Given the description of an element on the screen output the (x, y) to click on. 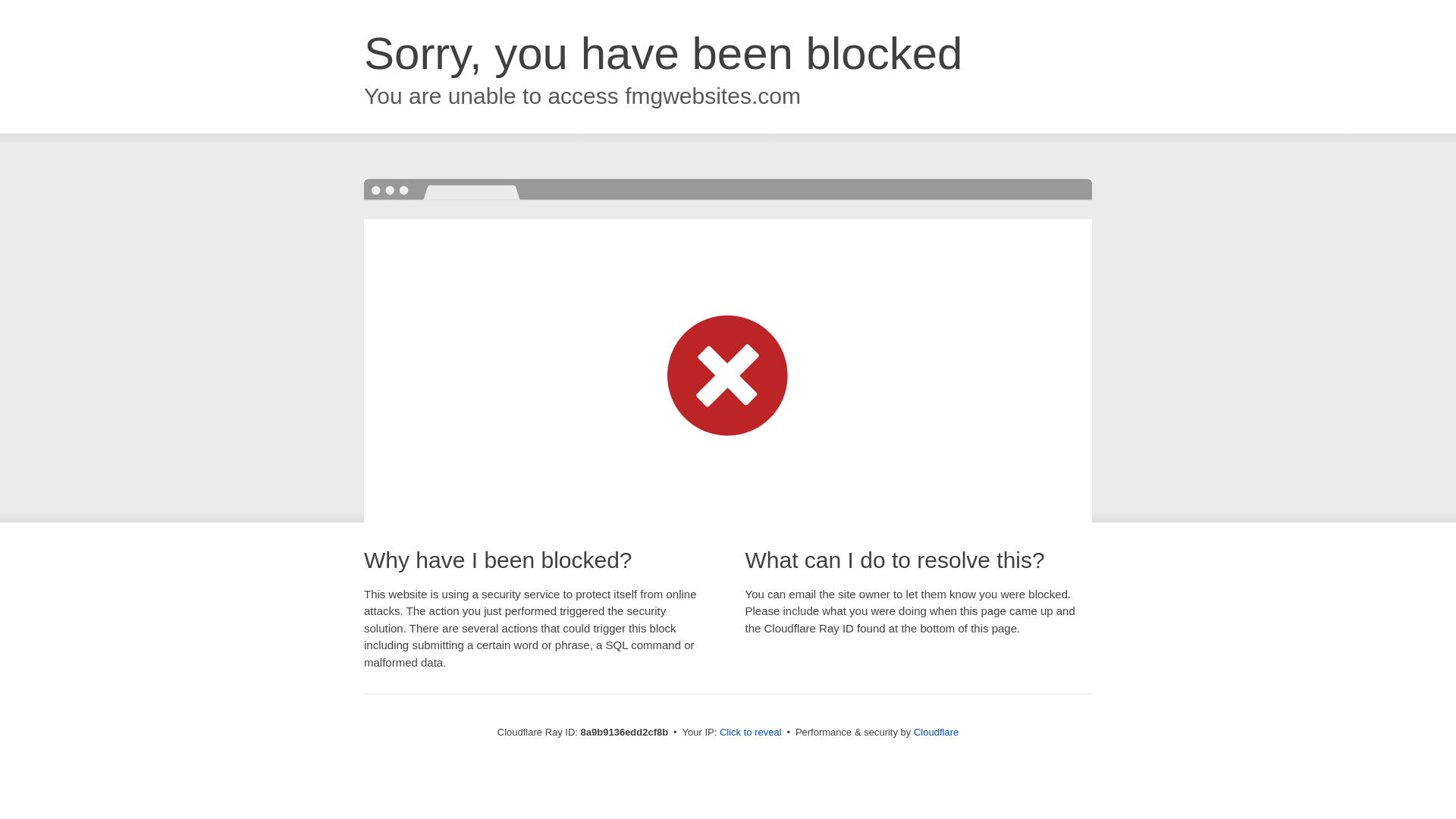
Click to reveal (750, 732)
Cloudflare (936, 731)
